Given the description of an element on the screen output the (x, y) to click on. 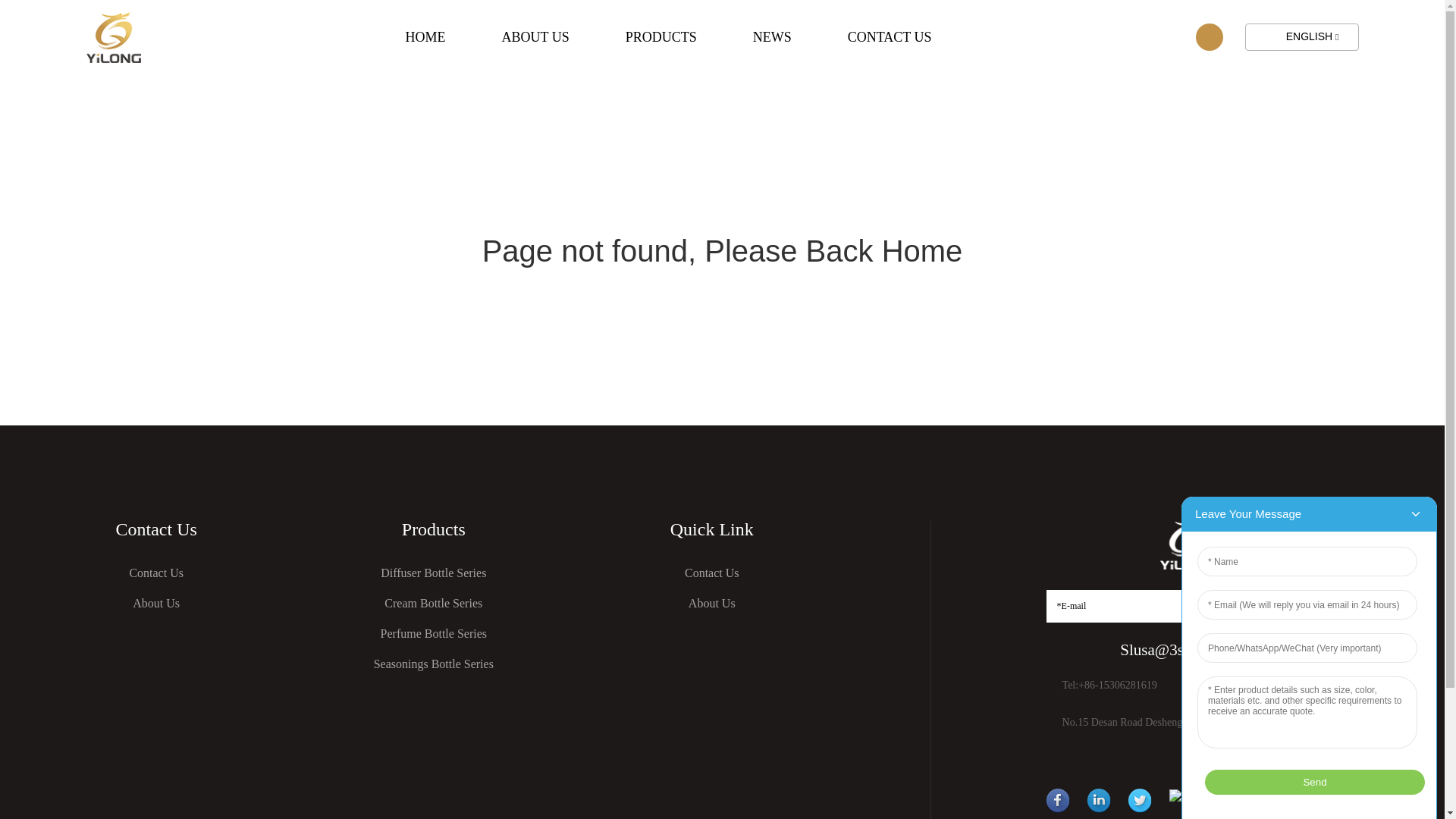
Slusa@3slglass.Com Element type: text (1187, 650)
Seasonings Bottle Series Element type: text (433, 664)
Page not found, Please Back Home Element type: text (722, 250)
About Us Element type: text (155, 603)
Cream Bottle Series Element type: text (433, 603)
Perfume Bottle Series Element type: text (433, 633)
CONTACT US Element type: text (889, 37)
Diffuser Bottle Series Element type: text (433, 573)
About Us Element type: text (711, 603)
Submit Element type: text (1286, 605)
ENGLISH Element type: text (1301, 36)
Contact Us Element type: text (711, 573)
NEWS Element type: text (772, 37)
ABOUT US Element type: text (535, 37)
HOME Element type: text (425, 37)
Tel:+86-15306281619 Element type: text (1109, 685)
Contact Us Element type: text (155, 573)
PRODUCTS Element type: text (660, 37)
